Given the description of an element on the screen output the (x, y) to click on. 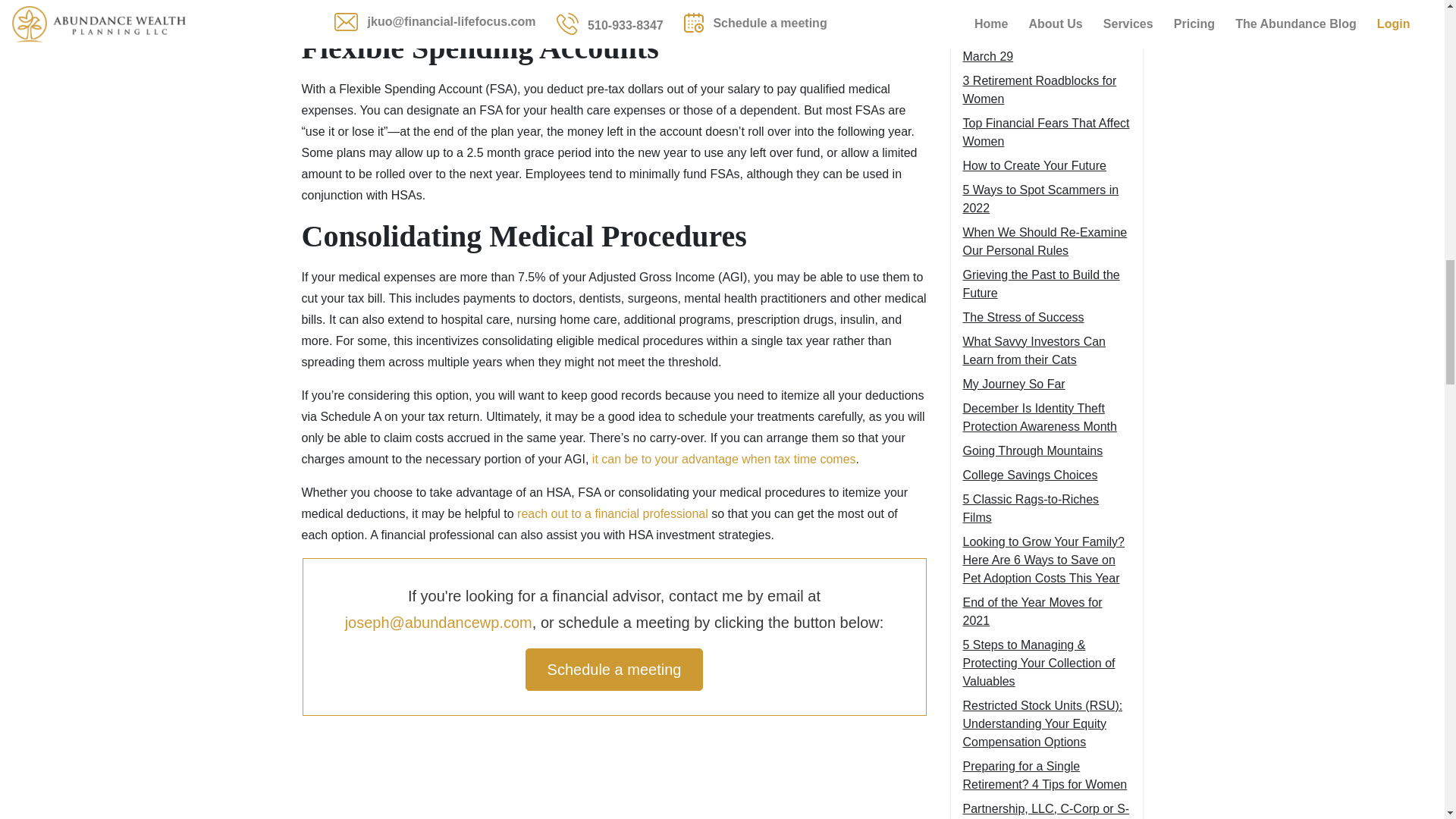
it can be to your advantage when tax time comes (724, 459)
Schedule a meeting (614, 669)
reach out to a financial professional (611, 513)
